Given the description of an element on the screen output the (x, y) to click on. 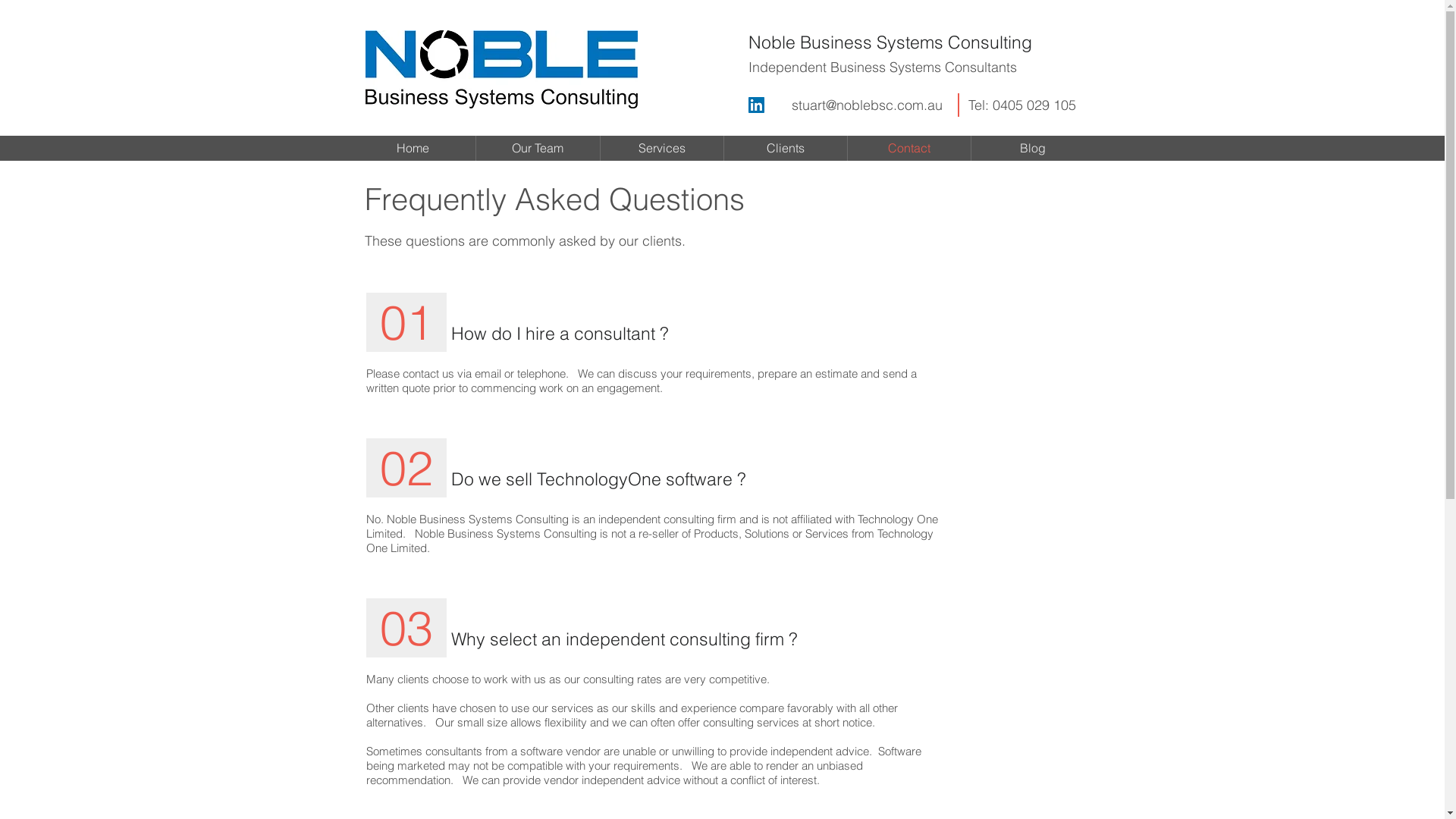
stuart@noblebsc.com.au Element type: text (866, 104)
Contact Element type: text (908, 147)
Home Element type: text (412, 147)
Clients Element type: text (784, 147)
Services Element type: text (661, 147)
Blog Element type: text (1031, 147)
Our Team Element type: text (537, 147)
